Given the description of an element on the screen output the (x, y) to click on. 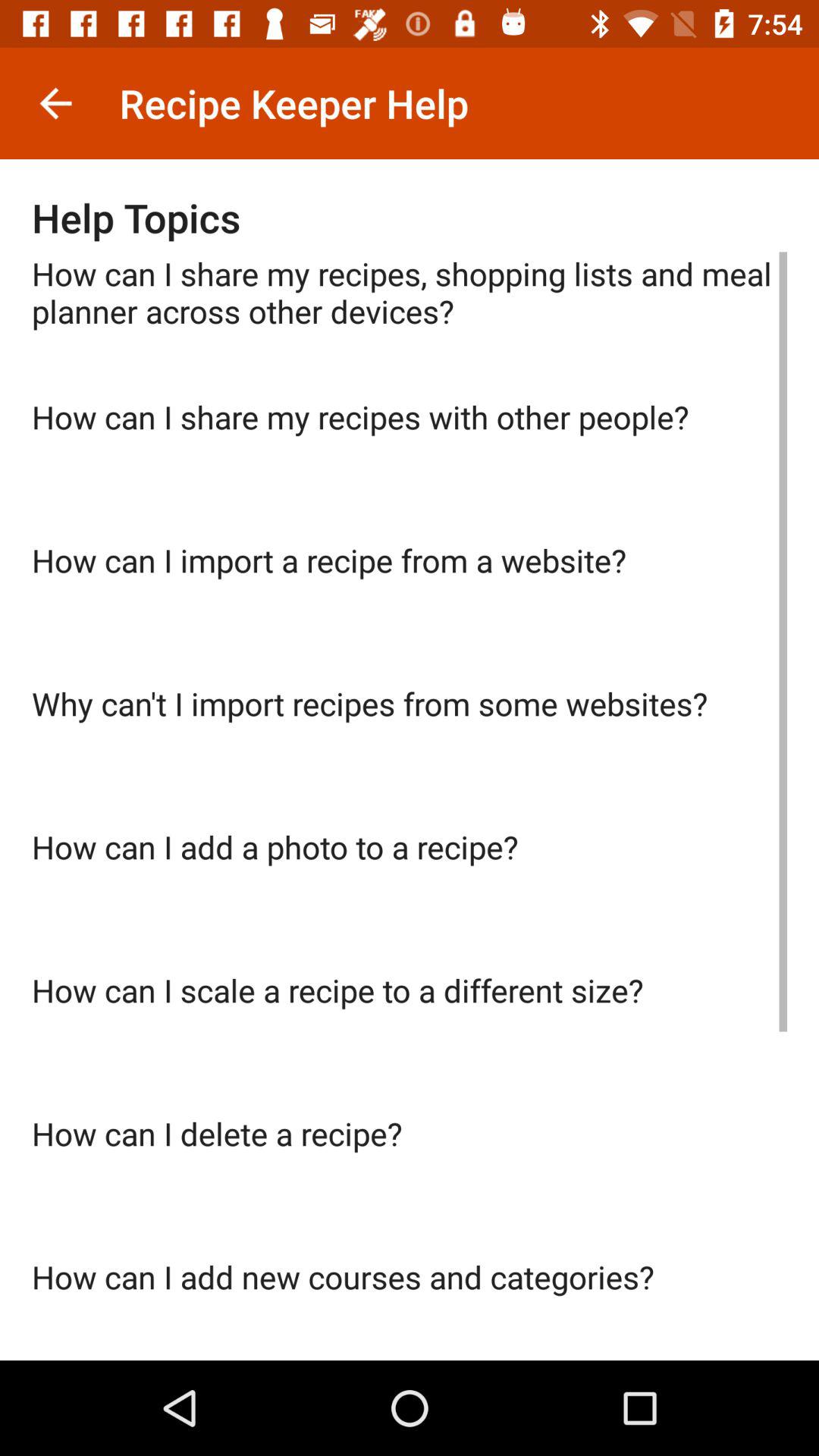
press icon next to recipe keeper help icon (55, 103)
